Given the description of an element on the screen output the (x, y) to click on. 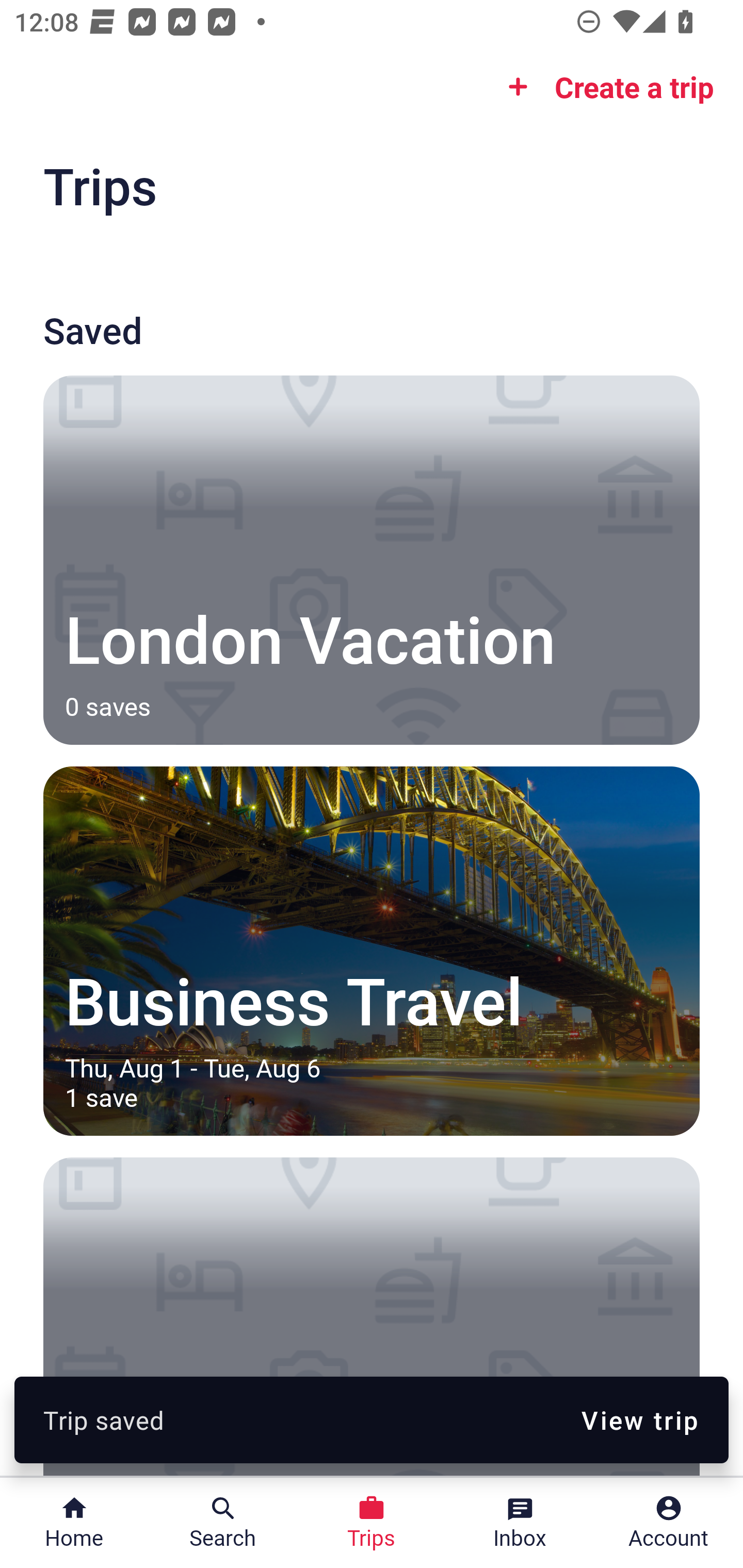
Create a trip Create a trip Button (605, 86)
View trip (640, 1419)
Home Home Button (74, 1522)
Search Search Button (222, 1522)
Inbox Inbox Button (519, 1522)
Account Profile. Button (668, 1522)
